Given the description of an element on the screen output the (x, y) to click on. 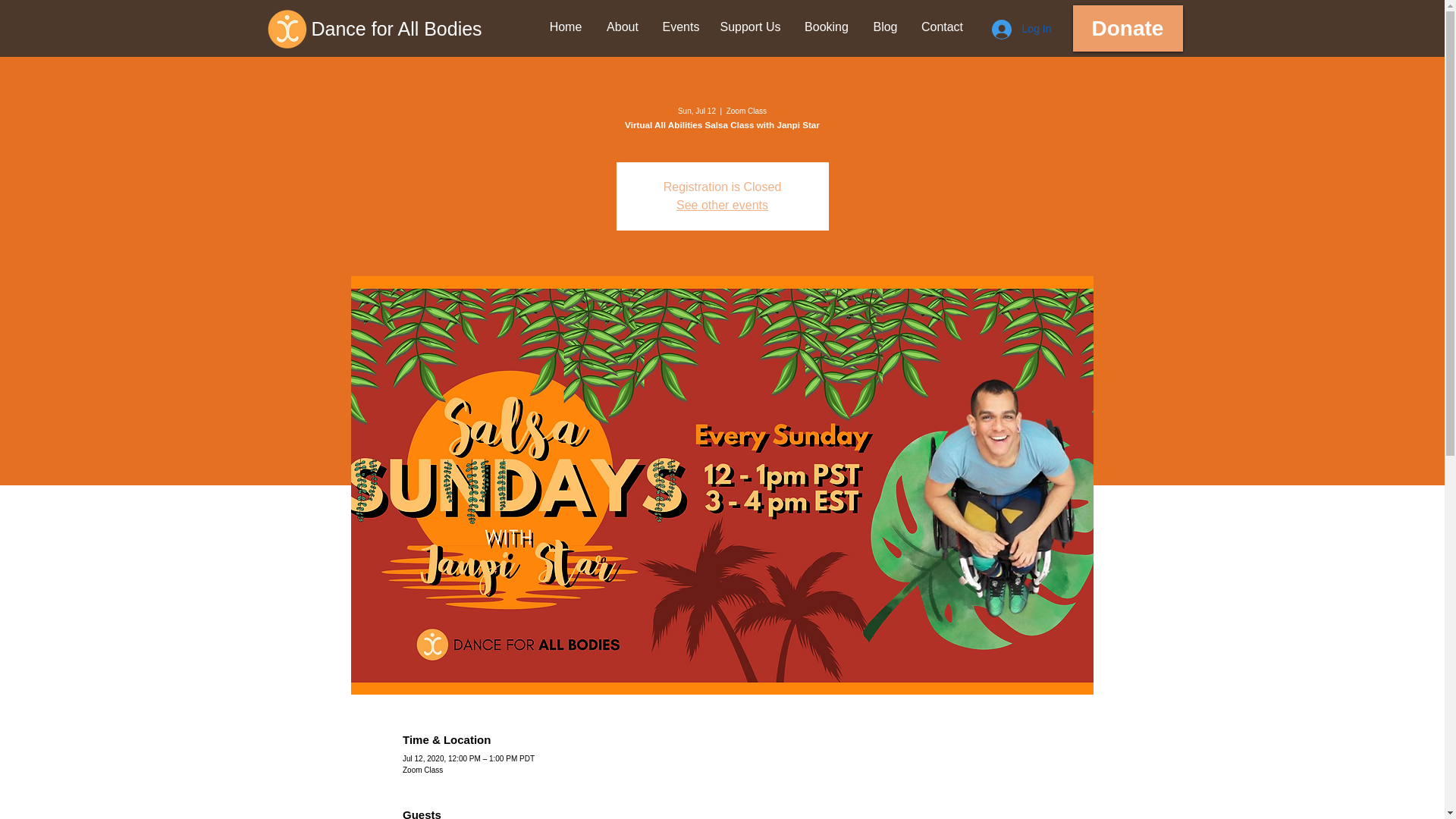
Log In (1021, 29)
Home (565, 27)
Donate (1126, 27)
Support Us (749, 27)
Dance for All Bodies (428, 29)
Contact (942, 27)
See other events (722, 205)
Blog (885, 27)
